Given the description of an element on the screen output the (x, y) to click on. 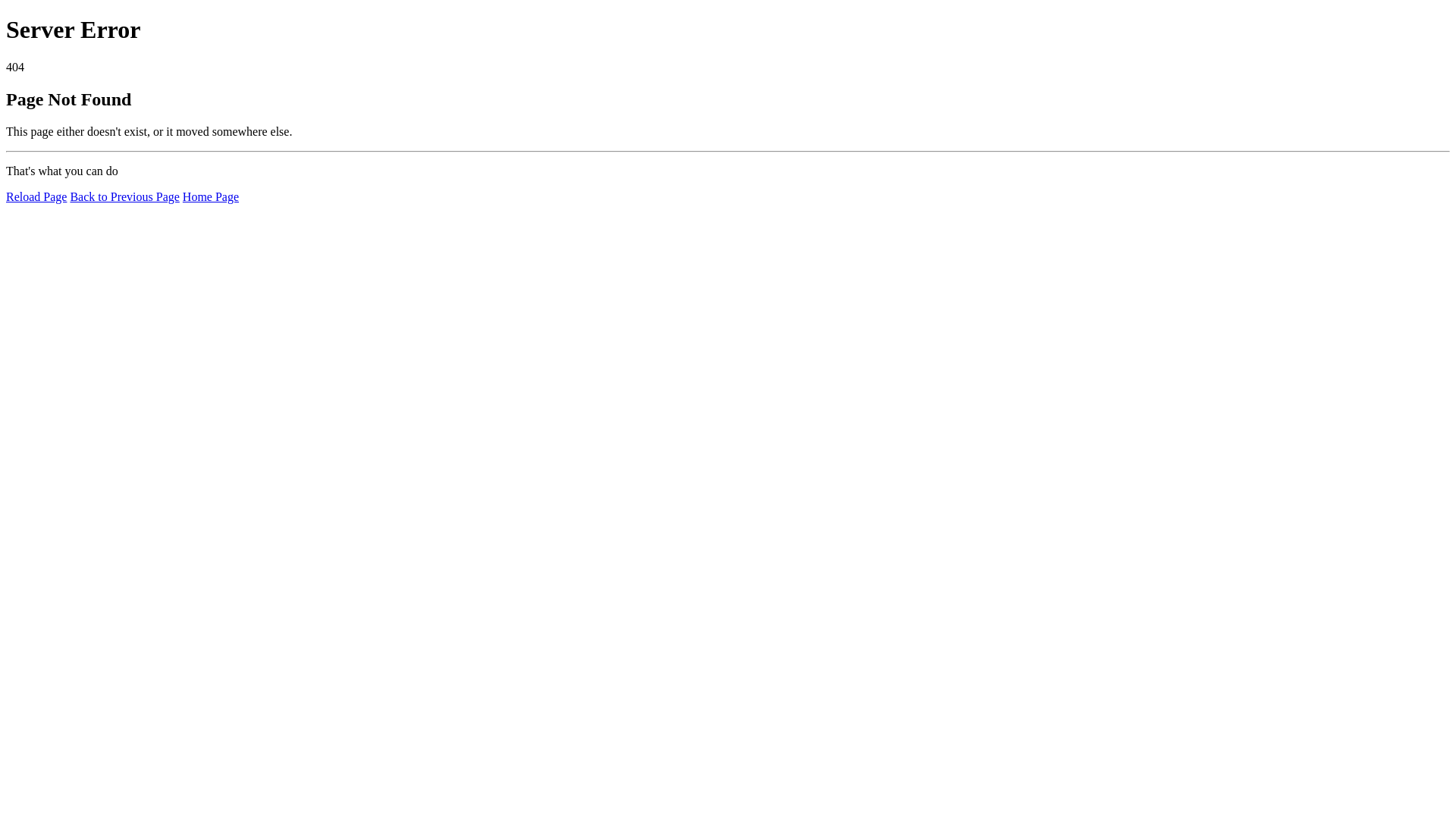
Reload Page Element type: text (36, 196)
Home Page Element type: text (210, 196)
Back to Previous Page Element type: text (123, 196)
